Given the description of an element on the screen output the (x, y) to click on. 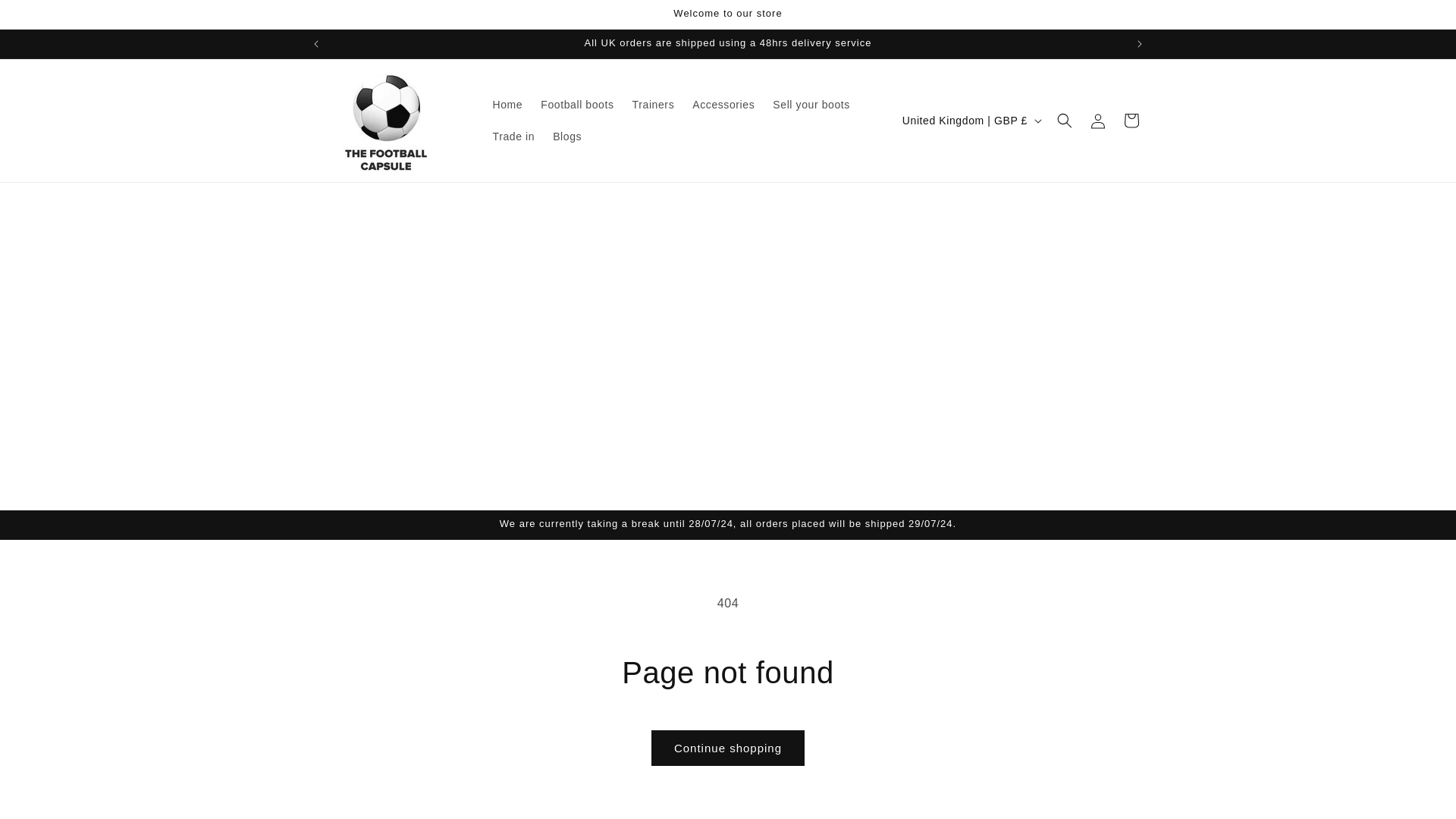
Continue shopping (727, 747)
Accessories (722, 104)
Home (507, 104)
Trainers (653, 104)
Log in (1098, 120)
Blogs (567, 136)
Skip to content (45, 17)
Trade in (513, 136)
Sell your boots (810, 104)
Football boots (577, 104)
Cart (1131, 120)
